Given the description of an element on the screen output the (x, y) to click on. 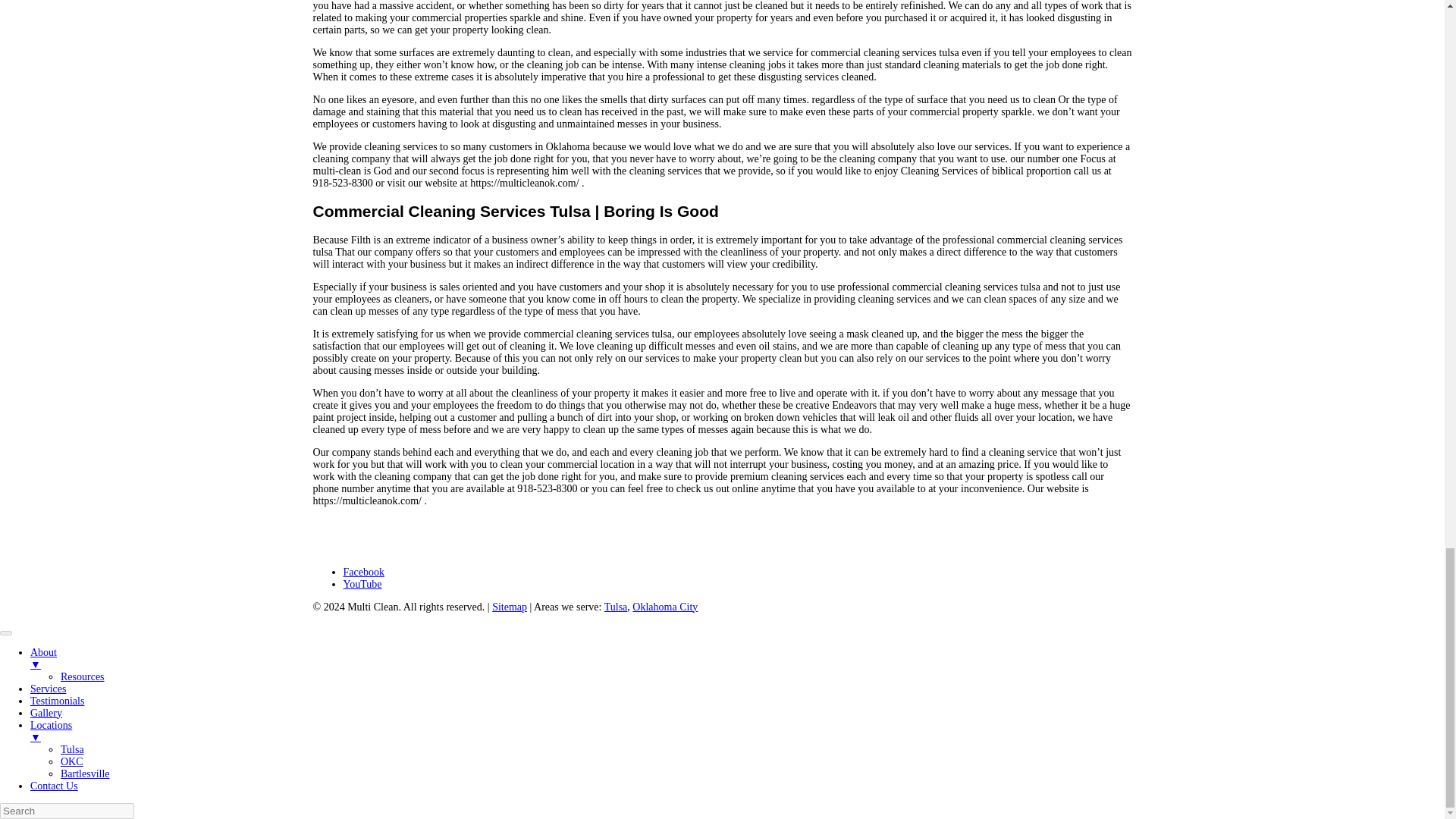
Resources (82, 676)
Services (47, 688)
Bartlesville (85, 773)
Contact Us (54, 785)
Testimonials (57, 700)
OKC (71, 761)
Gallery (46, 713)
Tulsa (615, 606)
Facebook (363, 572)
Sitemap (509, 606)
